Given the description of an element on the screen output the (x, y) to click on. 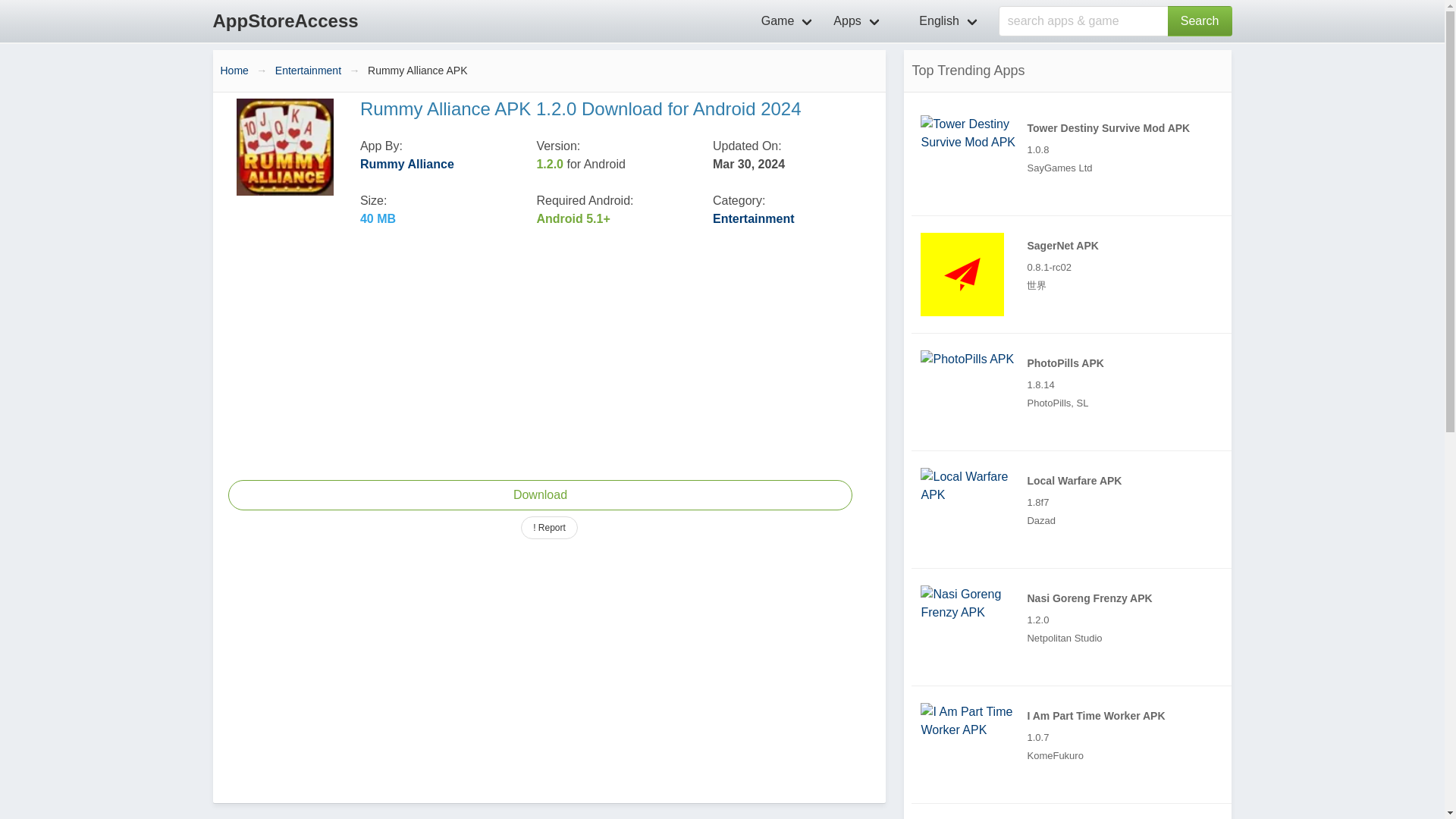
Local Warfare APK (1075, 509)
PhotoPills APK (1075, 392)
Tower Destiny Survive Mod APK (1075, 156)
Rummy Alliance APK 1.2.0 Download for Android 2024 (539, 494)
SagerNet APK (962, 274)
SagerNet APK (1075, 274)
Nasi Goreng Frenzy APK (973, 603)
Local Warfare APK (973, 485)
Game (788, 21)
